Given the description of an element on the screen output the (x, y) to click on. 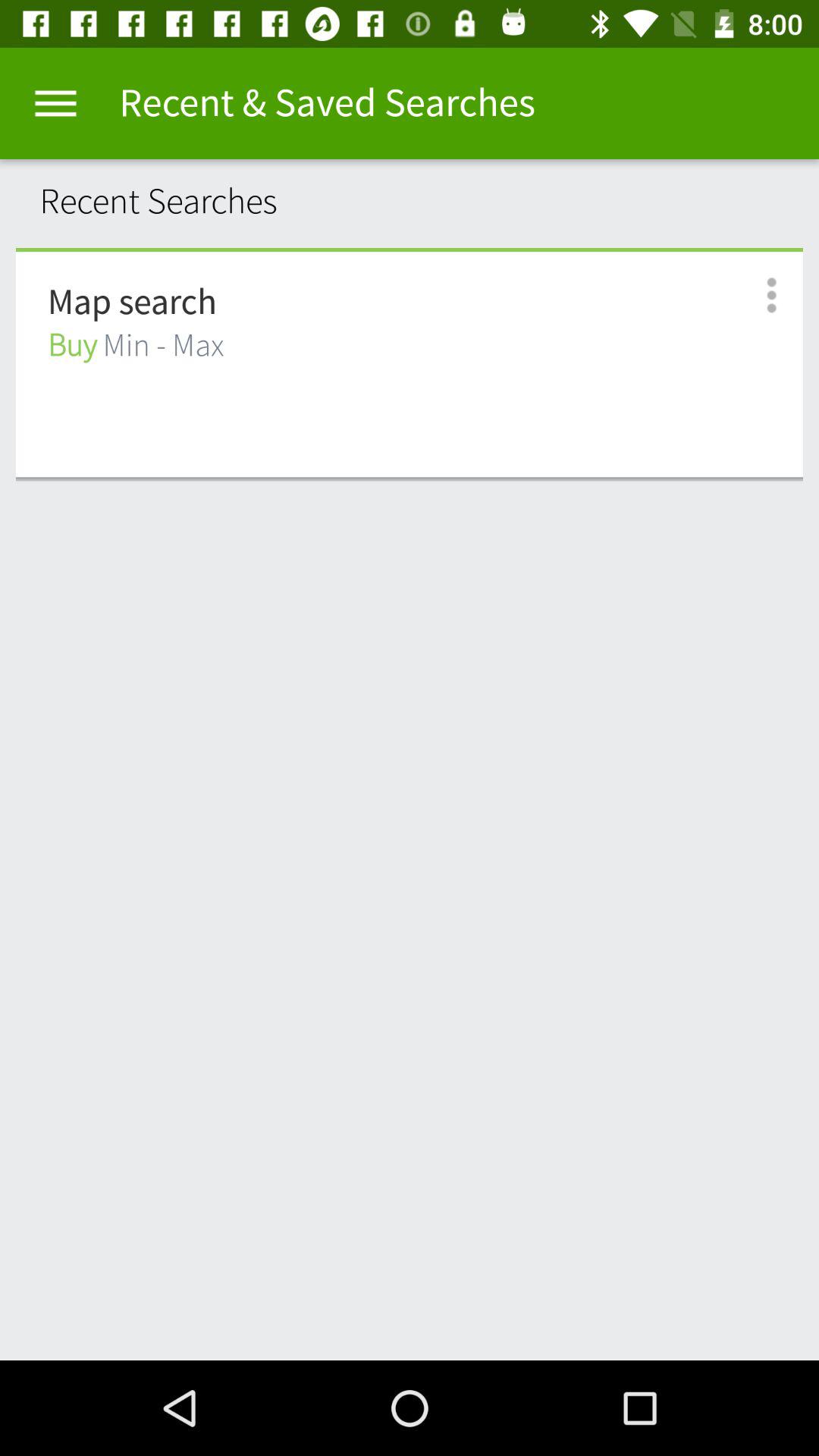
view menu (55, 103)
